Given the description of an element on the screen output the (x, y) to click on. 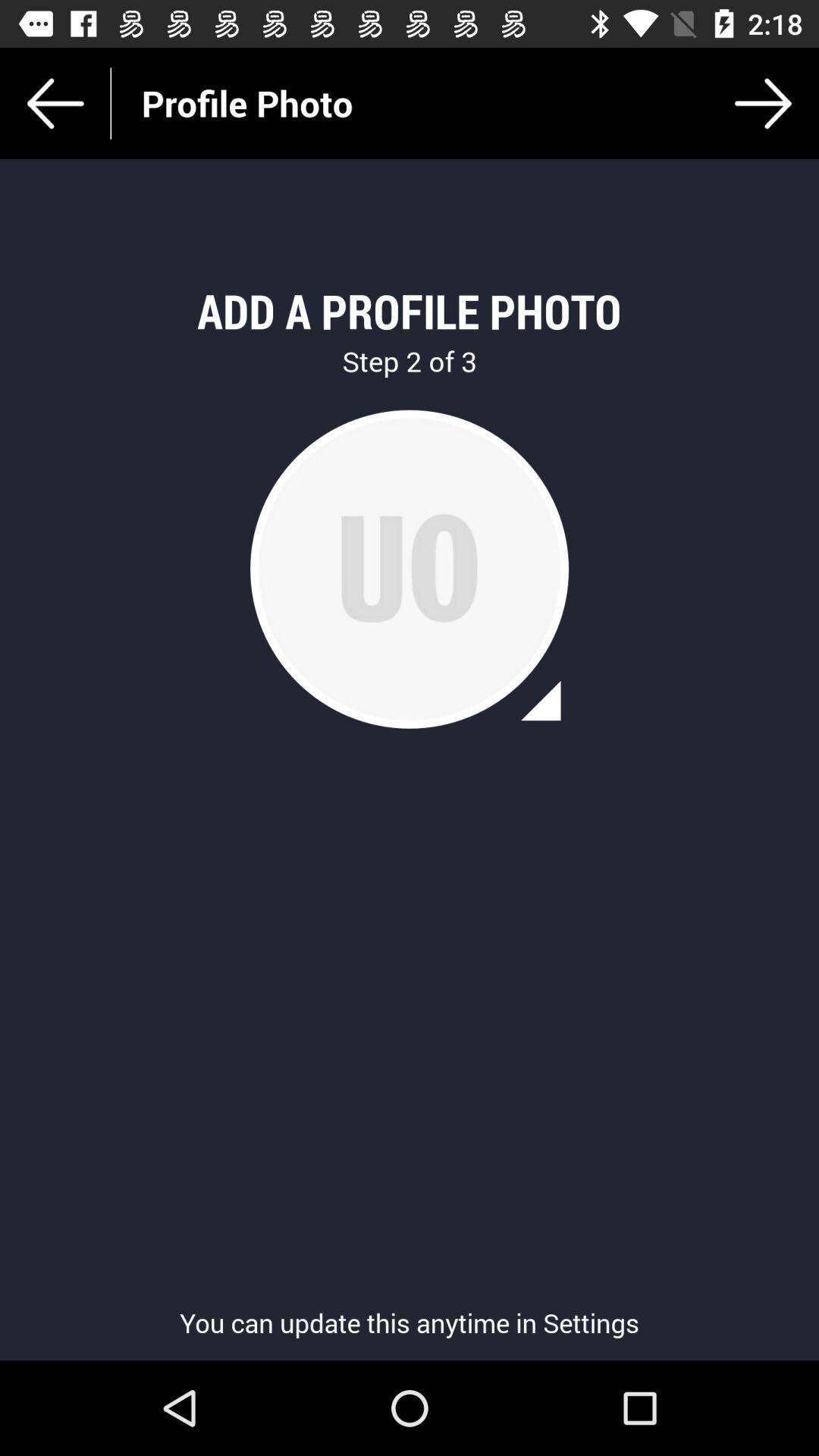
turn on the icon above the add a profile item (763, 103)
